Given the description of an element on the screen output the (x, y) to click on. 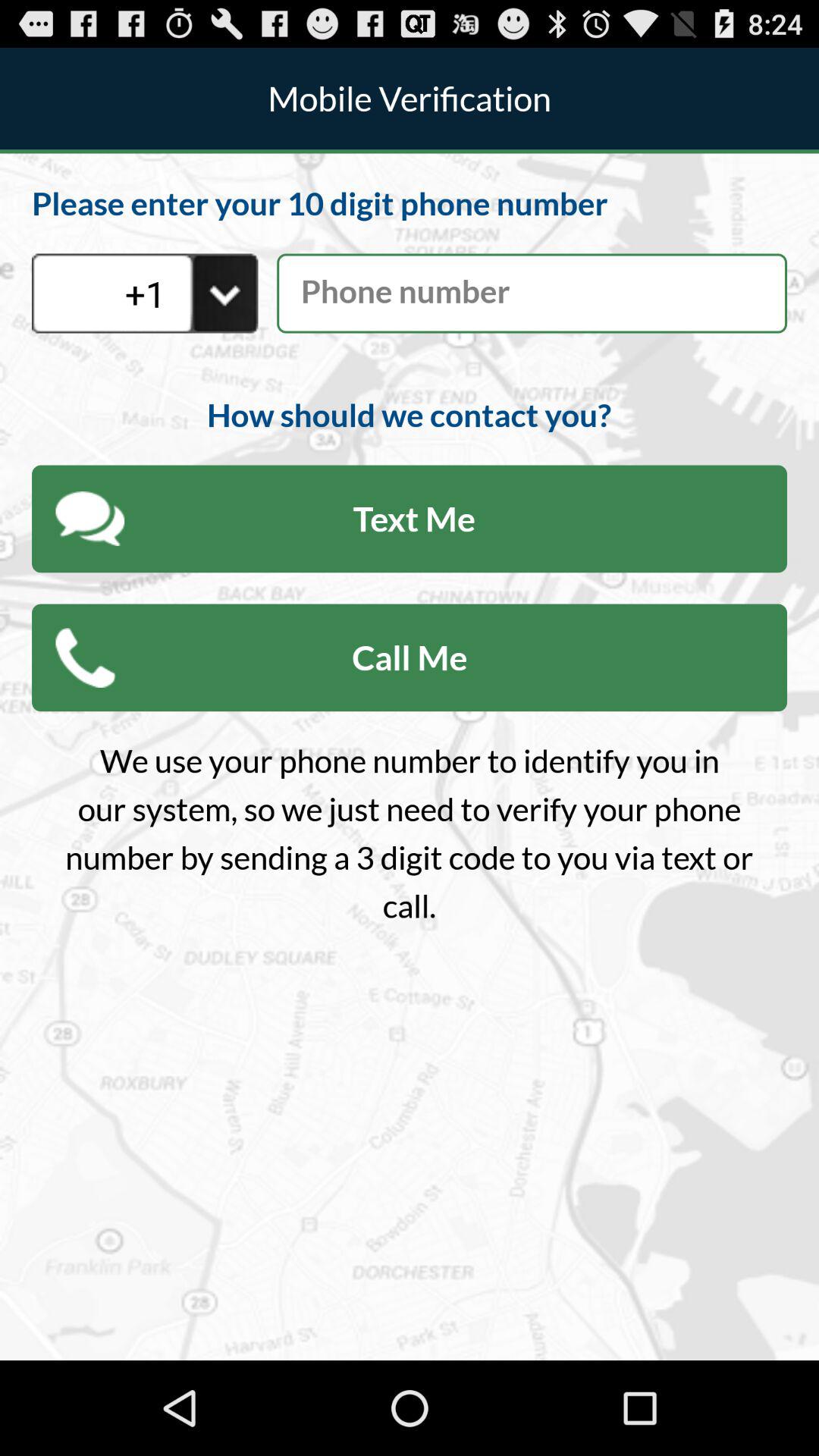
mobile number details (531, 293)
